Given the description of an element on the screen output the (x, y) to click on. 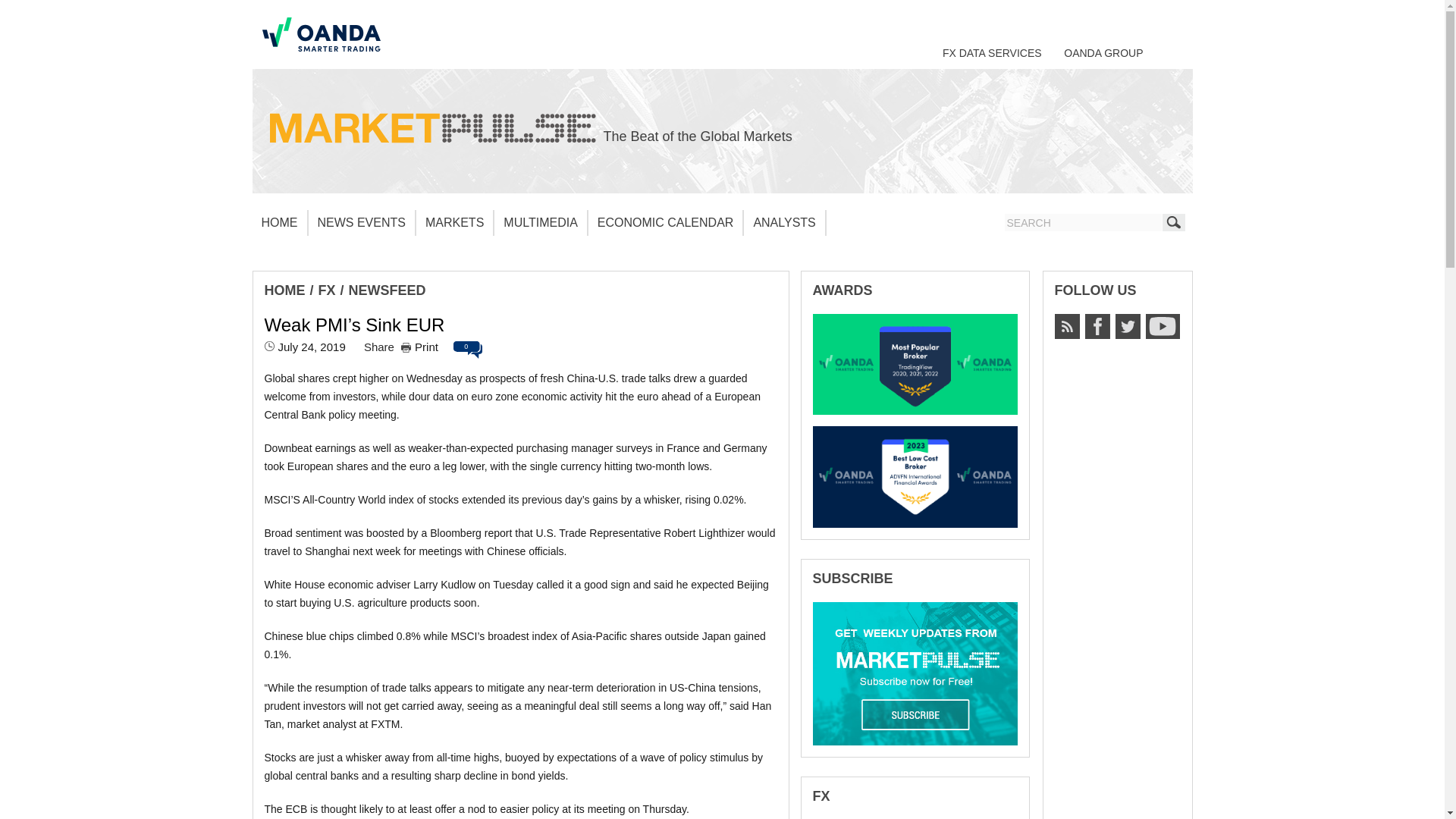
Find (1173, 221)
RSS (1066, 326)
HOME (279, 222)
Facebook (1096, 326)
FX DATA SERVICES (992, 52)
Youtube (1161, 326)
NEWSFEED (387, 290)
HOME (283, 290)
Twitter (1127, 326)
OANDA GROUP (1103, 52)
